Given the description of an element on the screen output the (x, y) to click on. 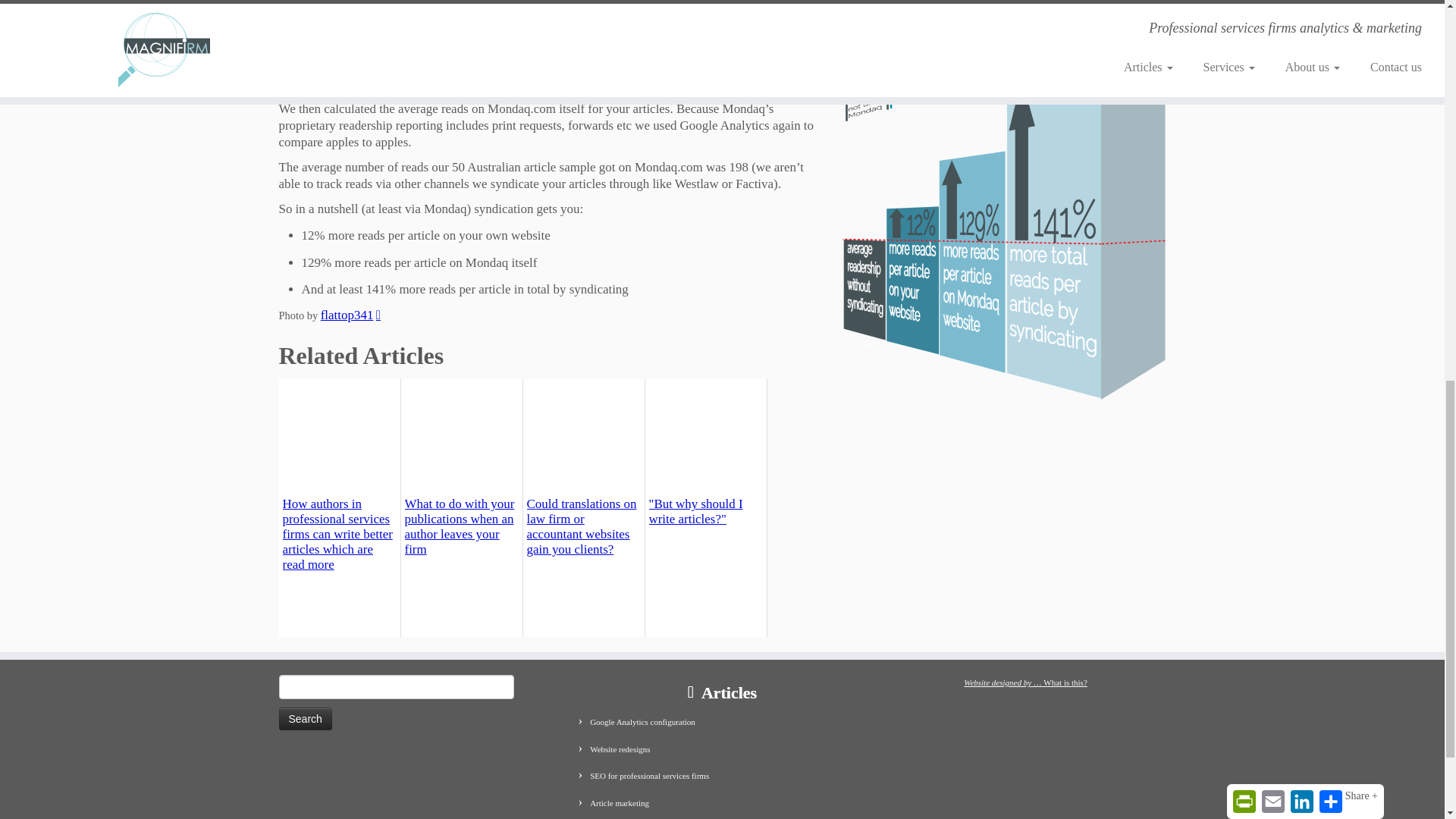
PrintFriendly (1244, 7)
the Australian and NZ resellers for Mondaq (802, 3)
LinkedIn (1301, 7)
Search (305, 718)
Email (1273, 7)
flattop341 (350, 314)
